Given the description of an element on the screen output the (x, y) to click on. 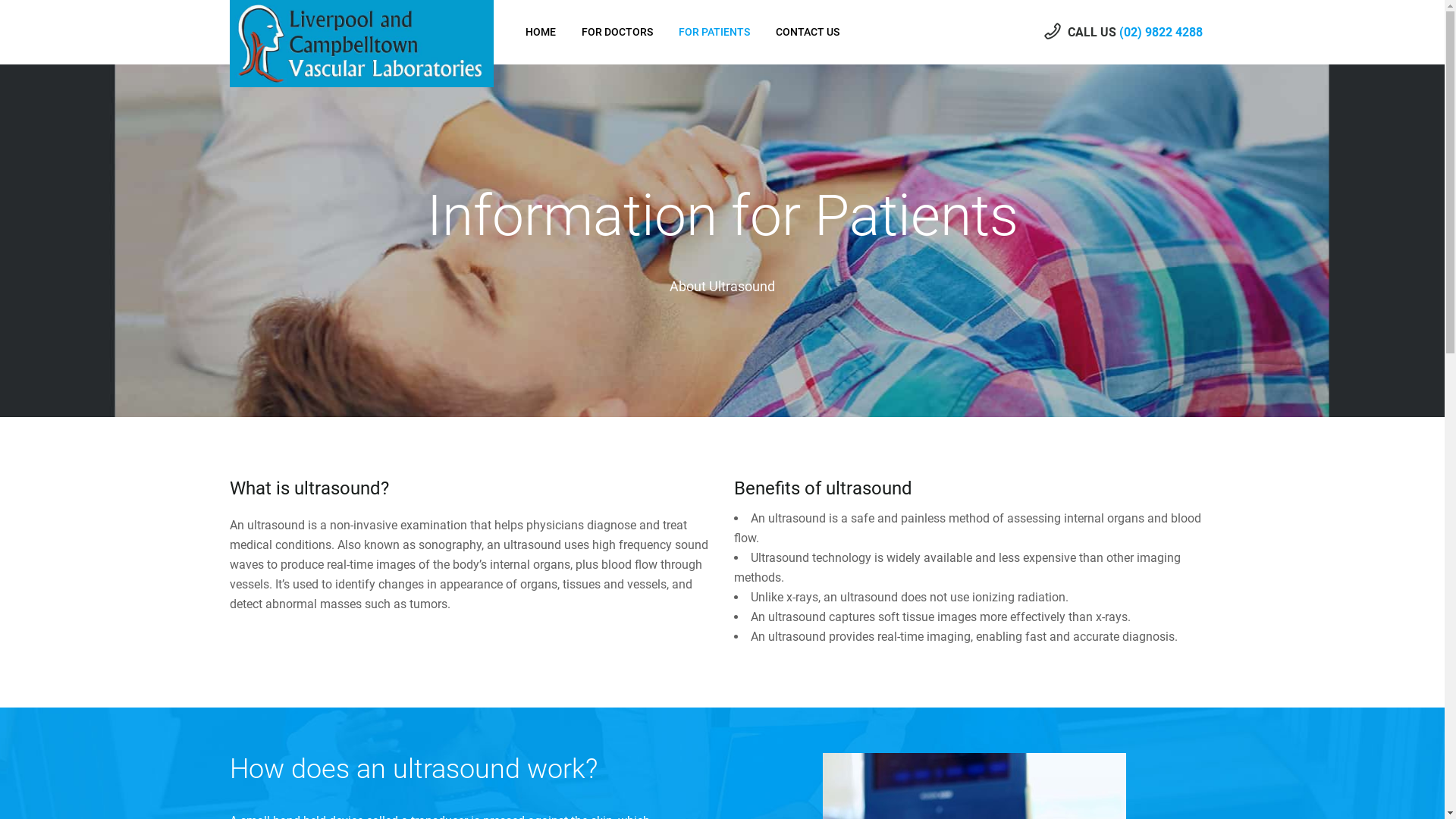
CONTACT US Element type: text (807, 32)
FOR DOCTORS Element type: text (616, 32)
(02) 9822 4288 Element type: text (1160, 31)
HOME Element type: text (540, 32)
FOR PATIENTS Element type: text (713, 32)
